Given the description of an element on the screen output the (x, y) to click on. 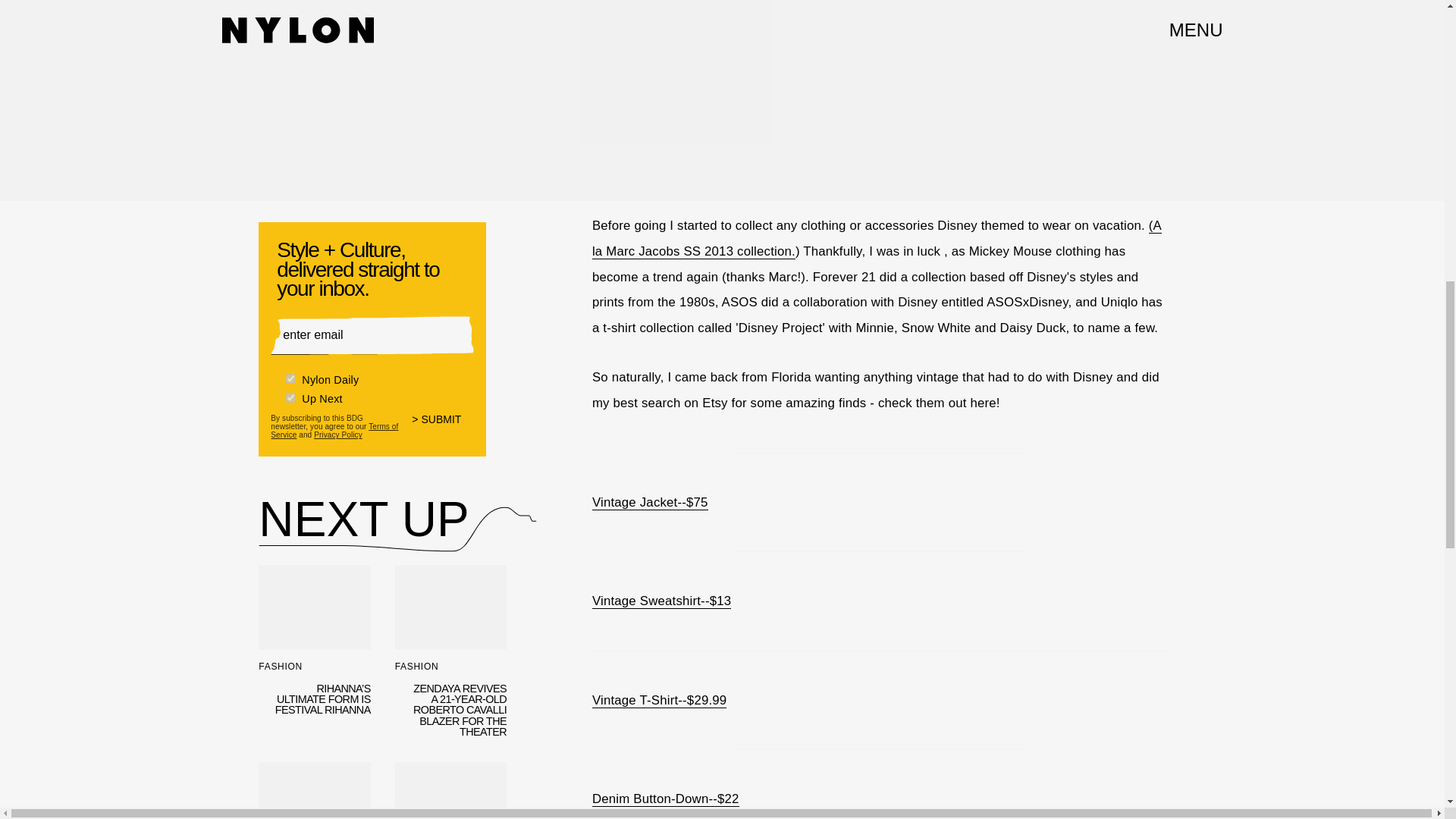
SUBMIT (314, 790)
Privacy Policy (443, 429)
Terms of Service (338, 434)
